Given the description of an element on the screen output the (x, y) to click on. 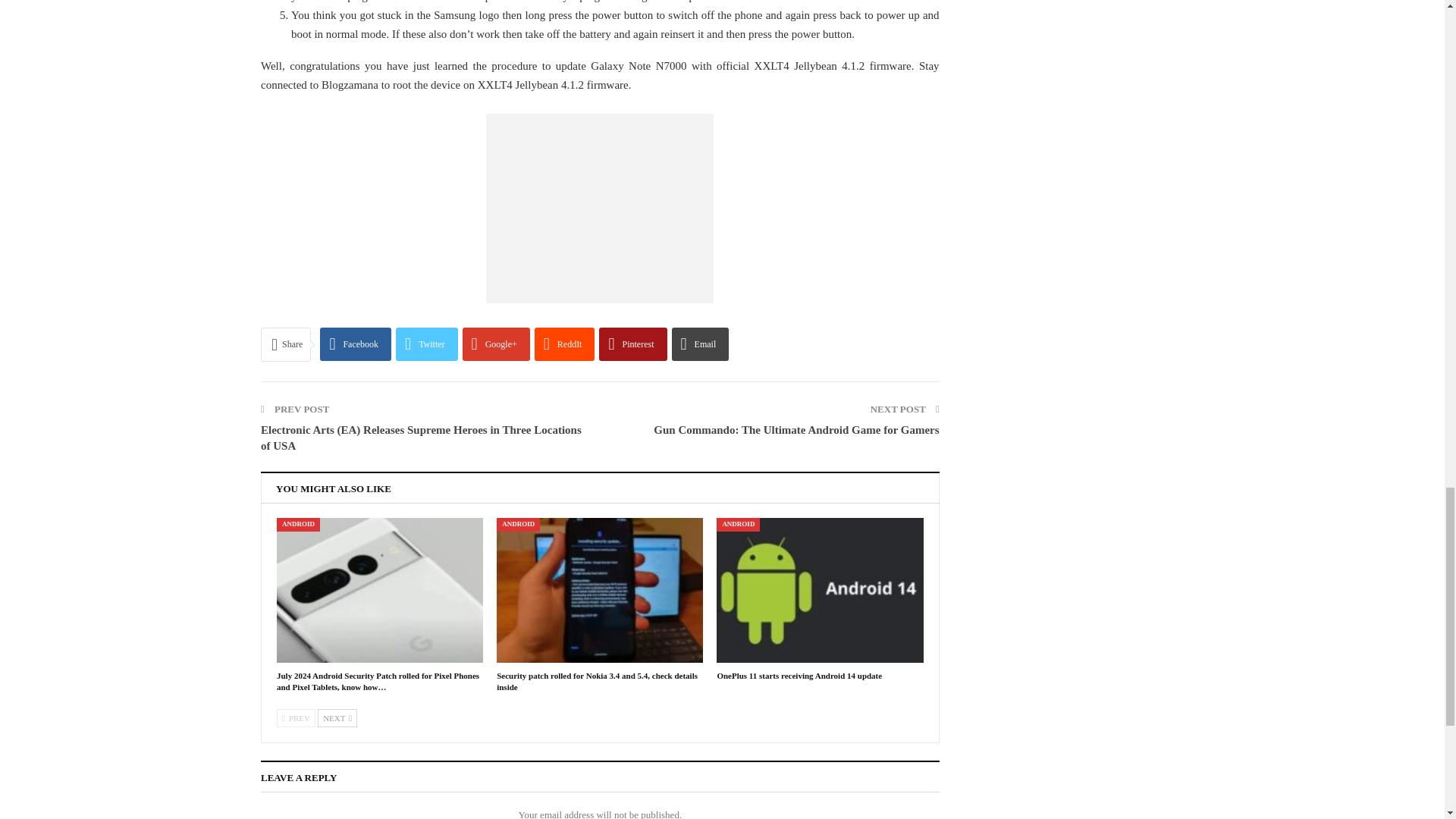
Previous (295, 718)
Pinterest (632, 344)
OnePlus 11 starts receiving Android 14 update (819, 589)
Facebook (355, 344)
Next (336, 718)
ReddIt (564, 344)
